Given the description of an element on the screen output the (x, y) to click on. 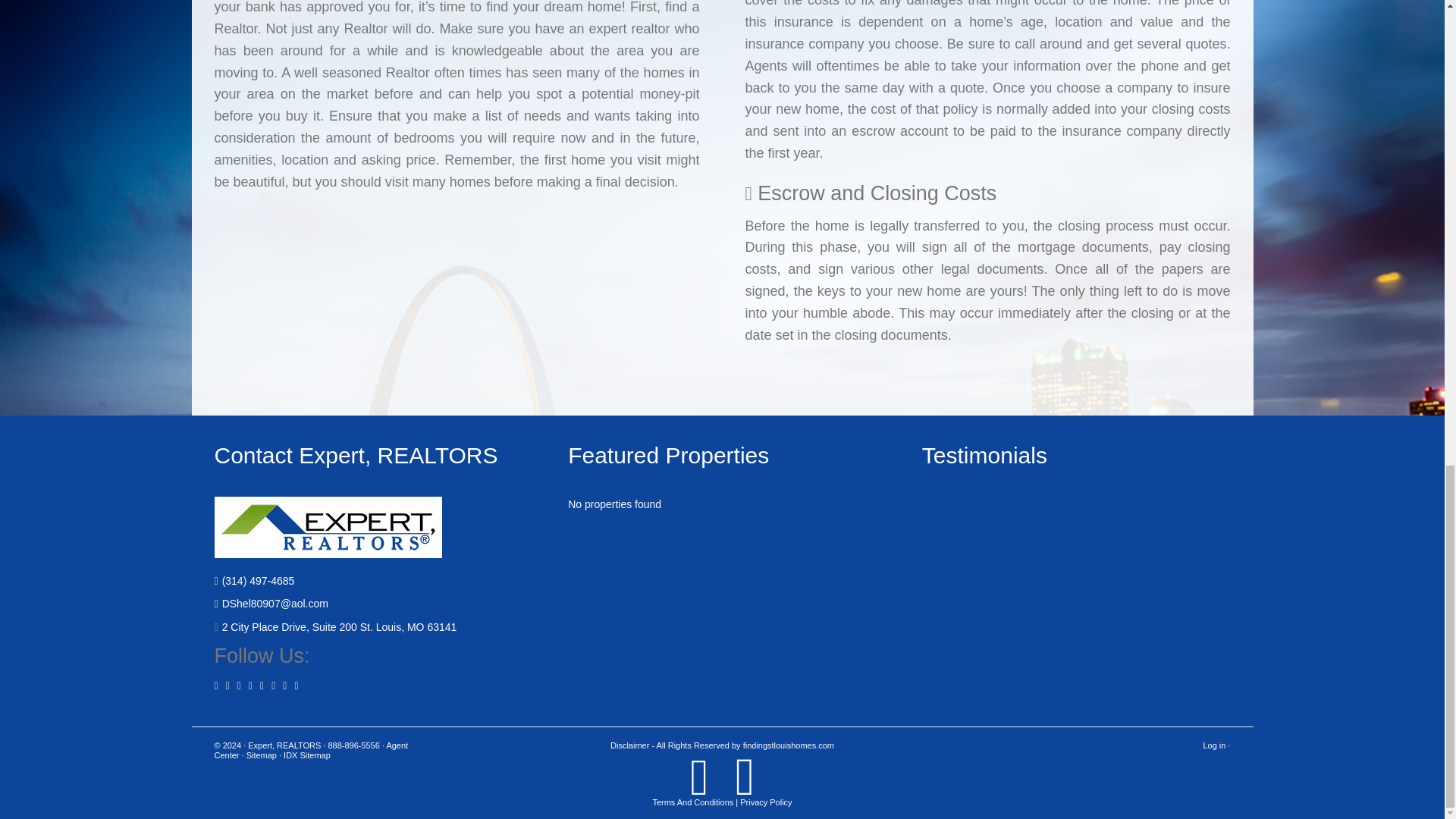
findingstlouishomes.com (788, 745)
Sitemap (261, 755)
Log in (1213, 745)
Privacy Policy (765, 801)
Terms And Conditions (692, 801)
Agent Center (310, 750)
IDX Sitemap (306, 755)
